Given the description of an element on the screen output the (x, y) to click on. 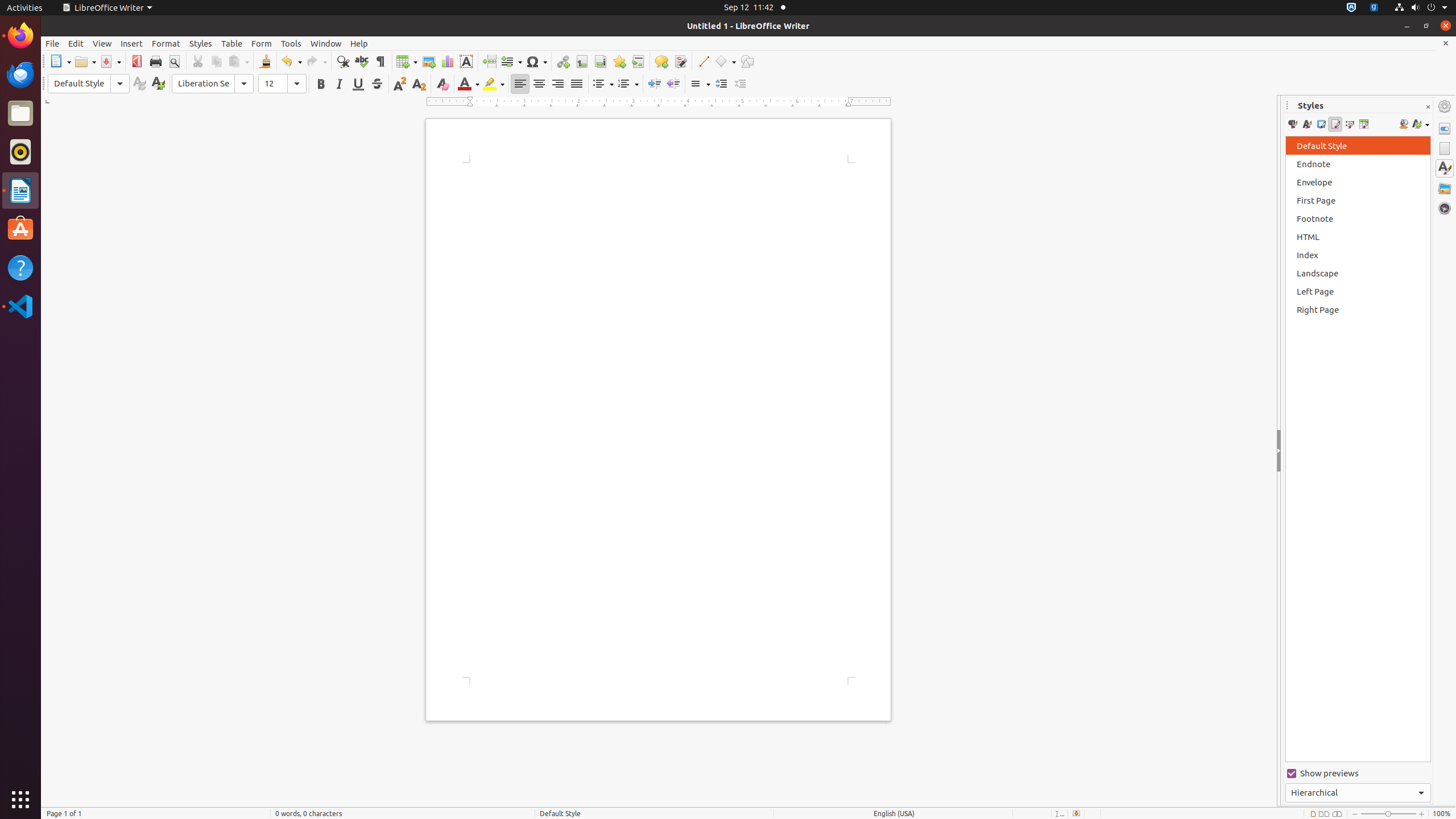
Image Element type: push-button (428, 61)
Highlight Color Element type: push-button (493, 83)
Table Styles Element type: push-button (1363, 123)
Thunderbird Mail Element type: push-button (20, 74)
List Styles Element type: push-button (1349, 123)
